Given the description of an element on the screen output the (x, y) to click on. 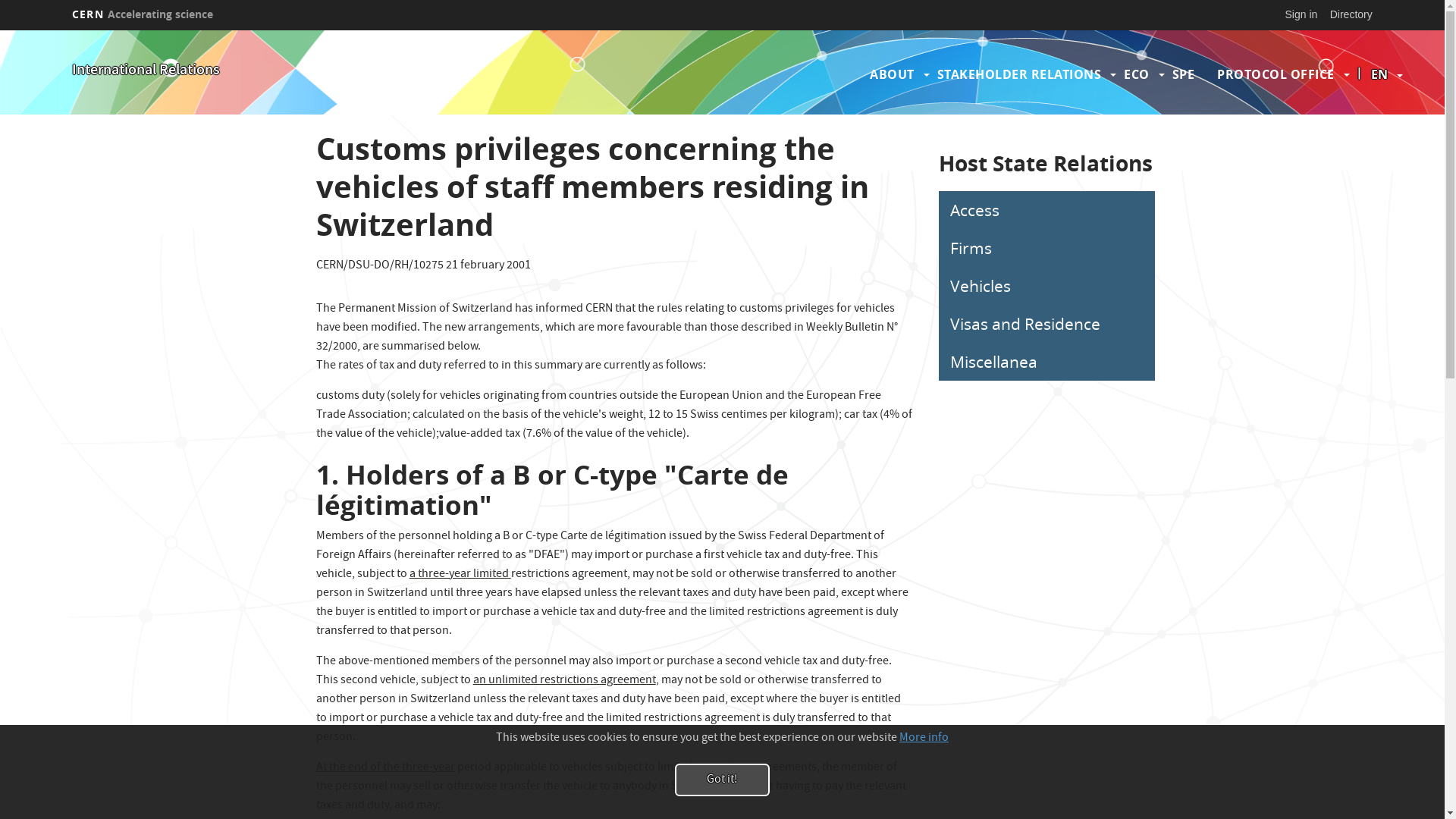
SPE Element type: text (1183, 74)
Skip to main content Element type: text (0, 30)
More info Element type: text (923, 738)
|
EN Element type: text (1379, 73)
ECO Element type: text (1136, 74)
Visas and Residence Element type: text (1046, 323)
Directory Element type: text (1351, 14)
Access Element type: text (1046, 210)
Sign in Element type: text (1301, 14)
International Relations Element type: text (145, 70)
Firms Element type: text (1046, 247)
Vehicles Element type: text (1046, 285)
PROTOCOL OFFICE Element type: text (1275, 74)
Miscellanea Element type: text (1046, 361)
STAKEHOLDER RELATIONS Element type: text (1019, 74)
CERN Accelerating science Element type: text (142, 14)
Got it! Element type: text (721, 779)
ABOUT Element type: text (891, 74)
